Given the description of an element on the screen output the (x, y) to click on. 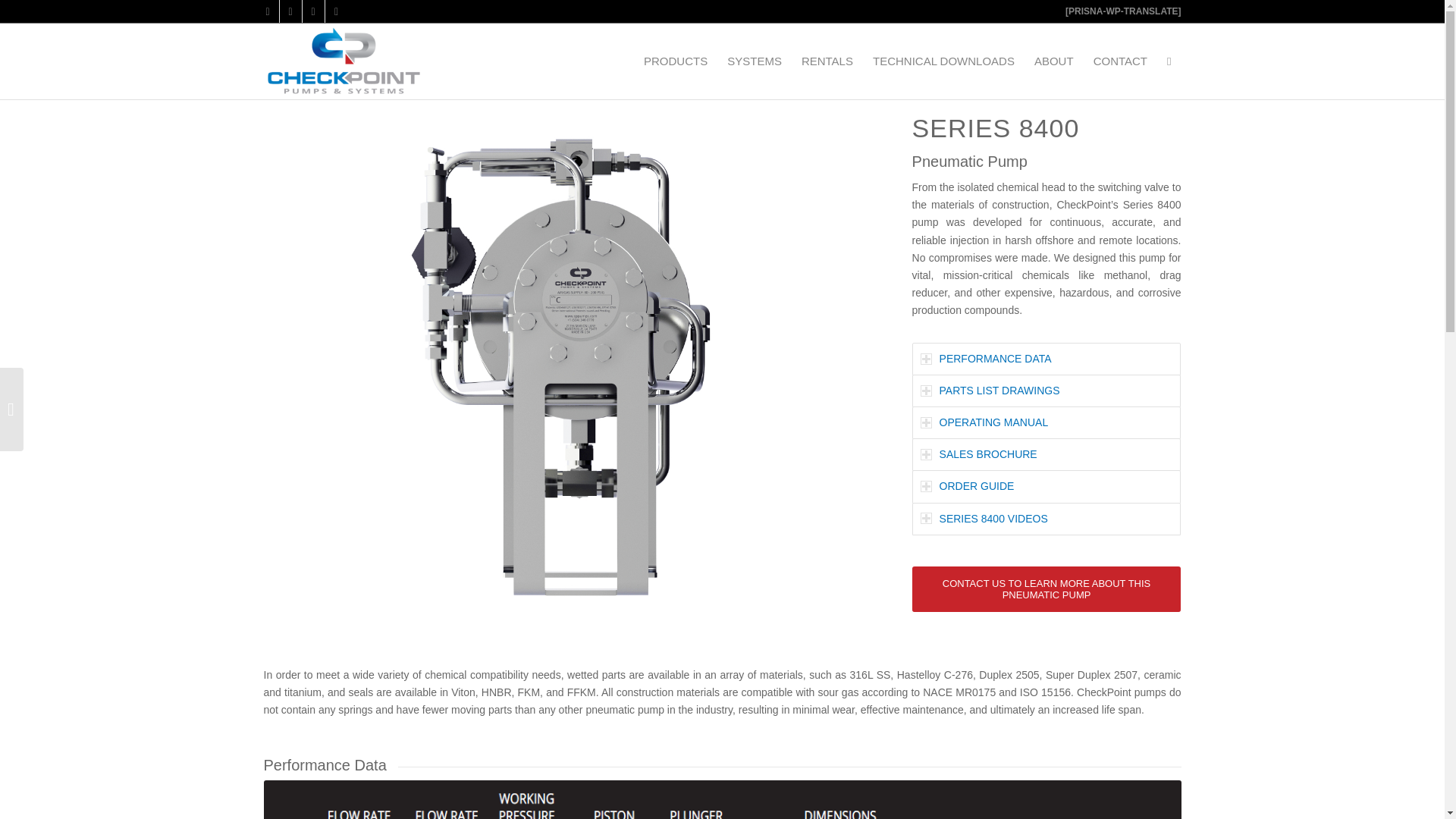
Youtube (312, 11)
TECHNICAL DOWNLOADS (944, 61)
PRODUCTS (675, 61)
8400 Table (721, 799)
Facebook (290, 11)
CONTACT (1120, 61)
SYSTEMS (754, 61)
X (267, 11)
LinkedIn (335, 11)
RENTALS (827, 61)
